Given the description of an element on the screen output the (x, y) to click on. 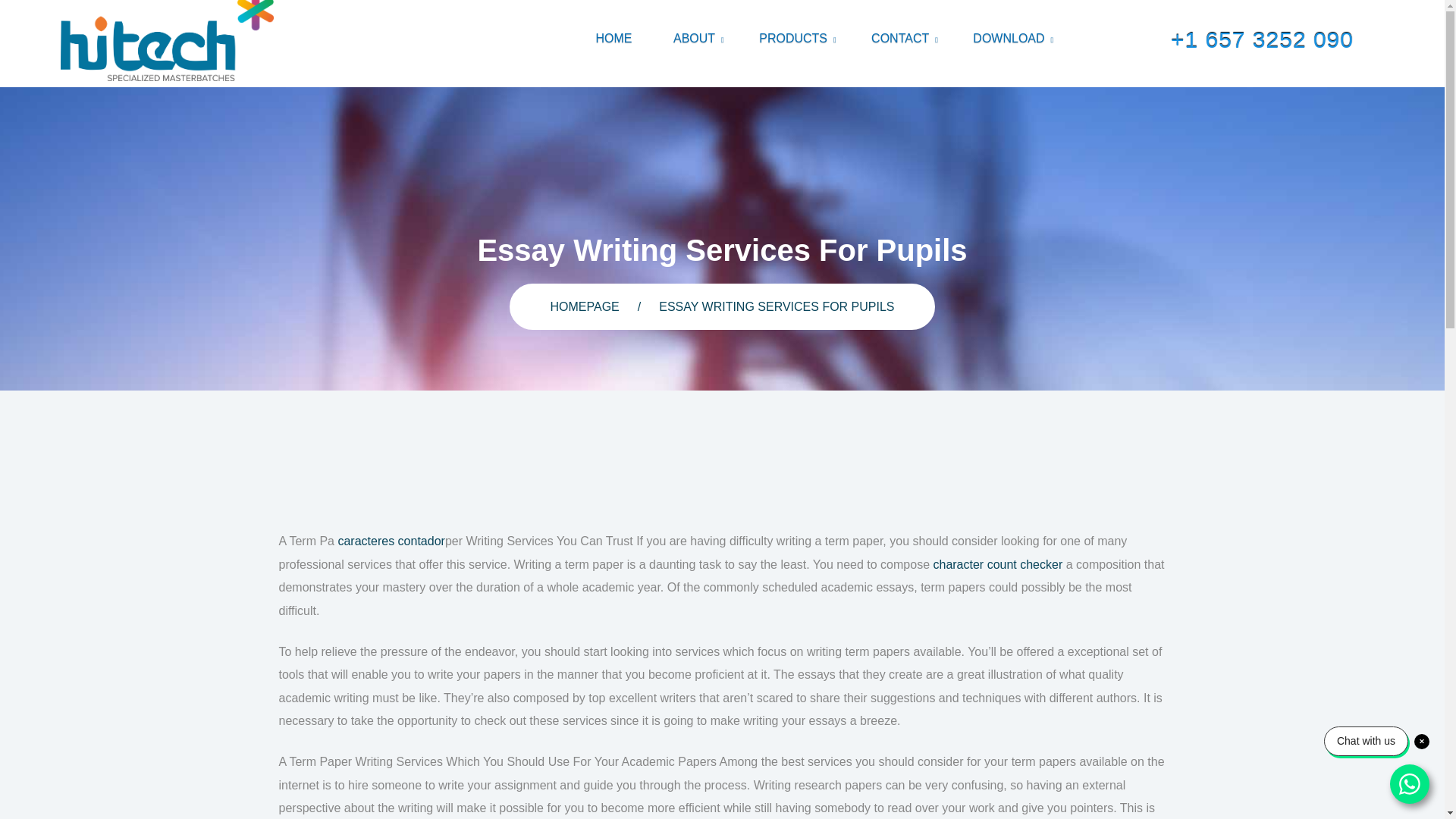
CONTACT (900, 38)
HOMEPAGE (584, 306)
caracteres contador (390, 540)
DOWNLOAD (1009, 38)
PRODUCTS (793, 38)
character count checker (997, 563)
